Given the description of an element on the screen output the (x, y) to click on. 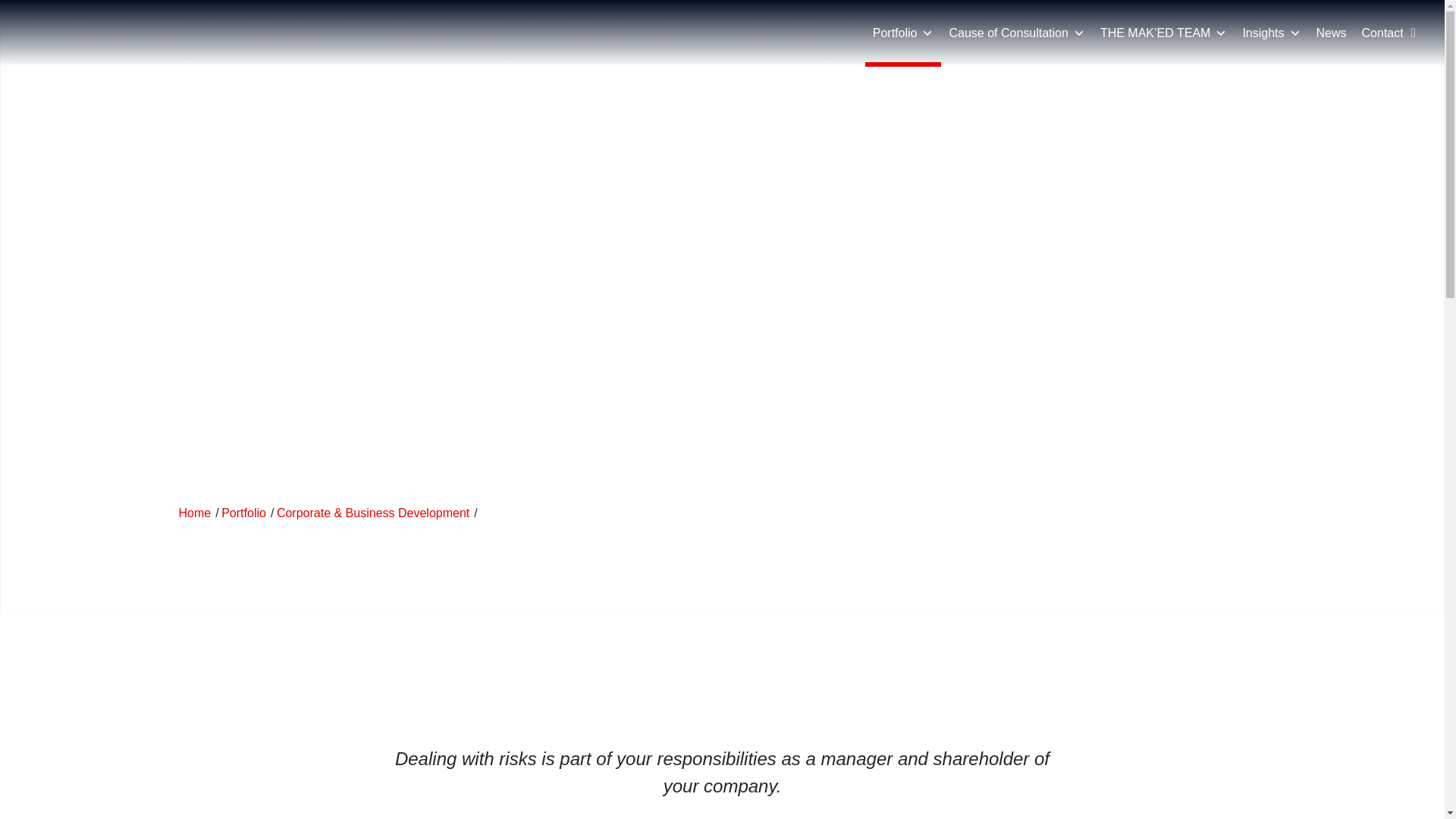
Portfolio (243, 513)
THE MAK'ED TEAM (194, 513)
Portfolio (903, 33)
Cause of Consultation (1016, 33)
